Given the description of an element on the screen output the (x, y) to click on. 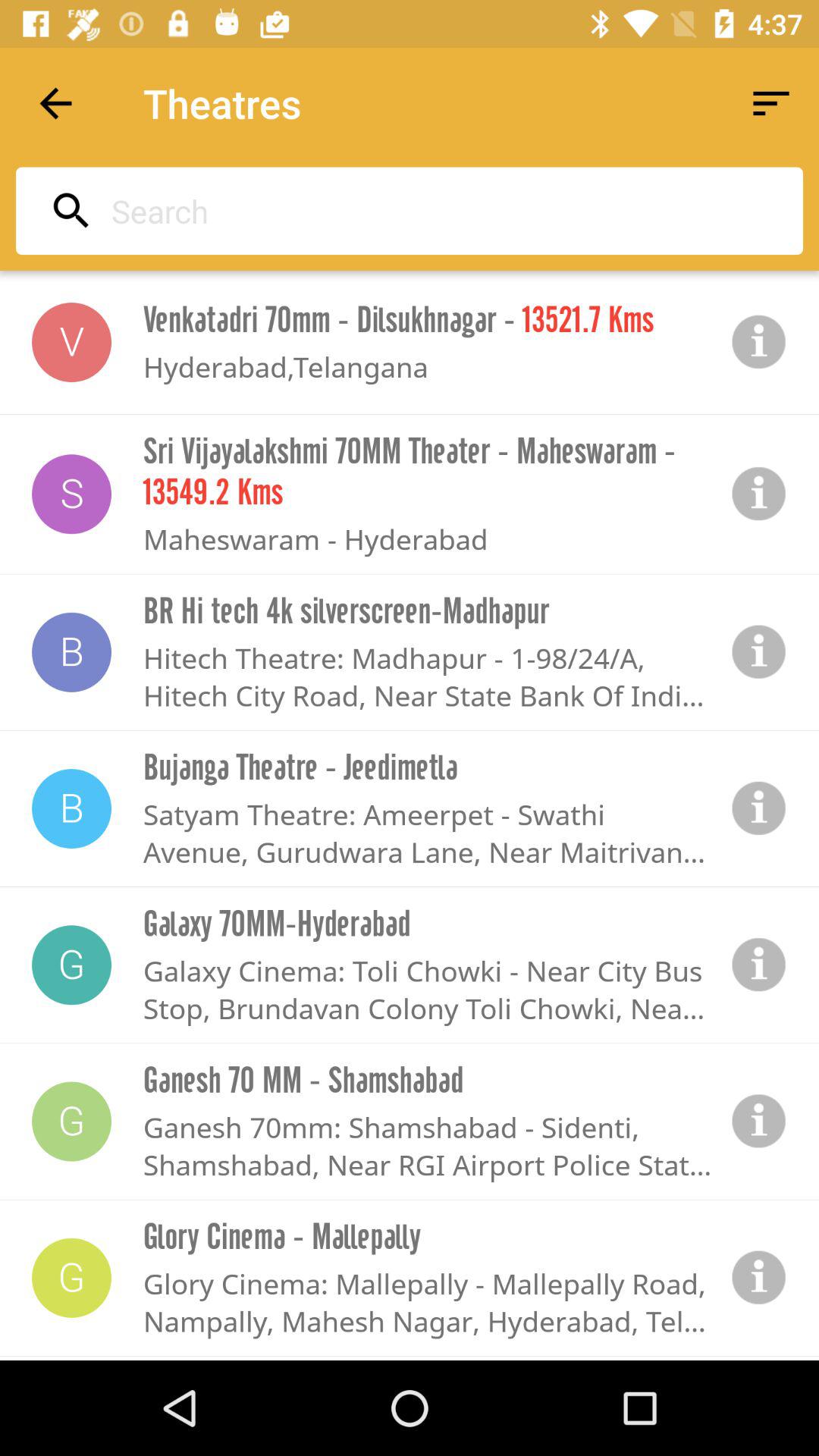
show information (759, 1121)
